Given the description of an element on the screen output the (x, y) to click on. 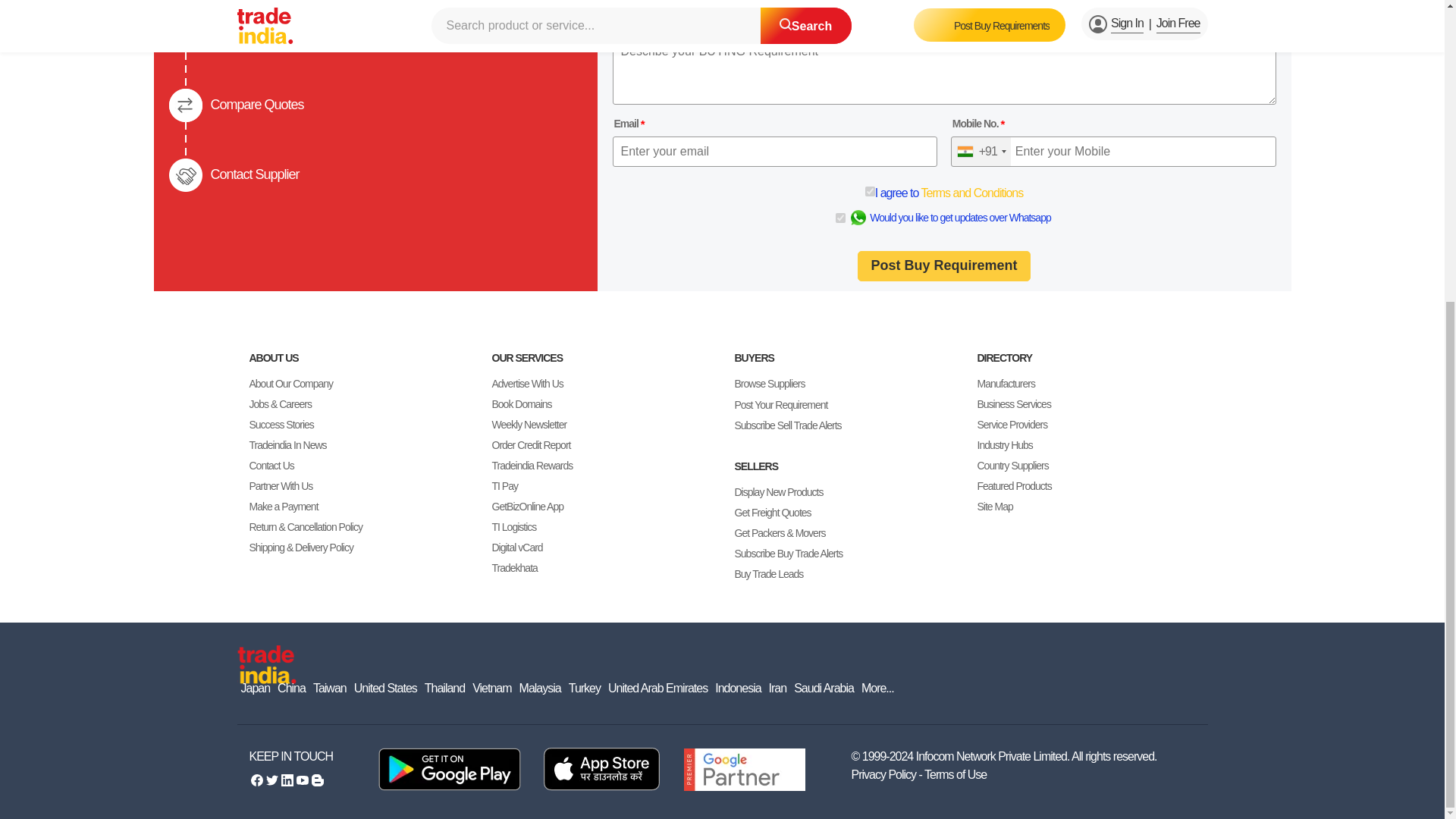
Display New Products (777, 492)
Subscribe Sell Trade Alerts (787, 425)
Book Domains (521, 403)
TI Logistics (513, 526)
Terms and Conditions (971, 192)
Get Freight Quotes (771, 512)
Post Your Requirement (780, 404)
GetBizOnline App (527, 506)
Tradeindia Rewards (532, 465)
Post Buy Requirement (943, 265)
